Given the description of an element on the screen output the (x, y) to click on. 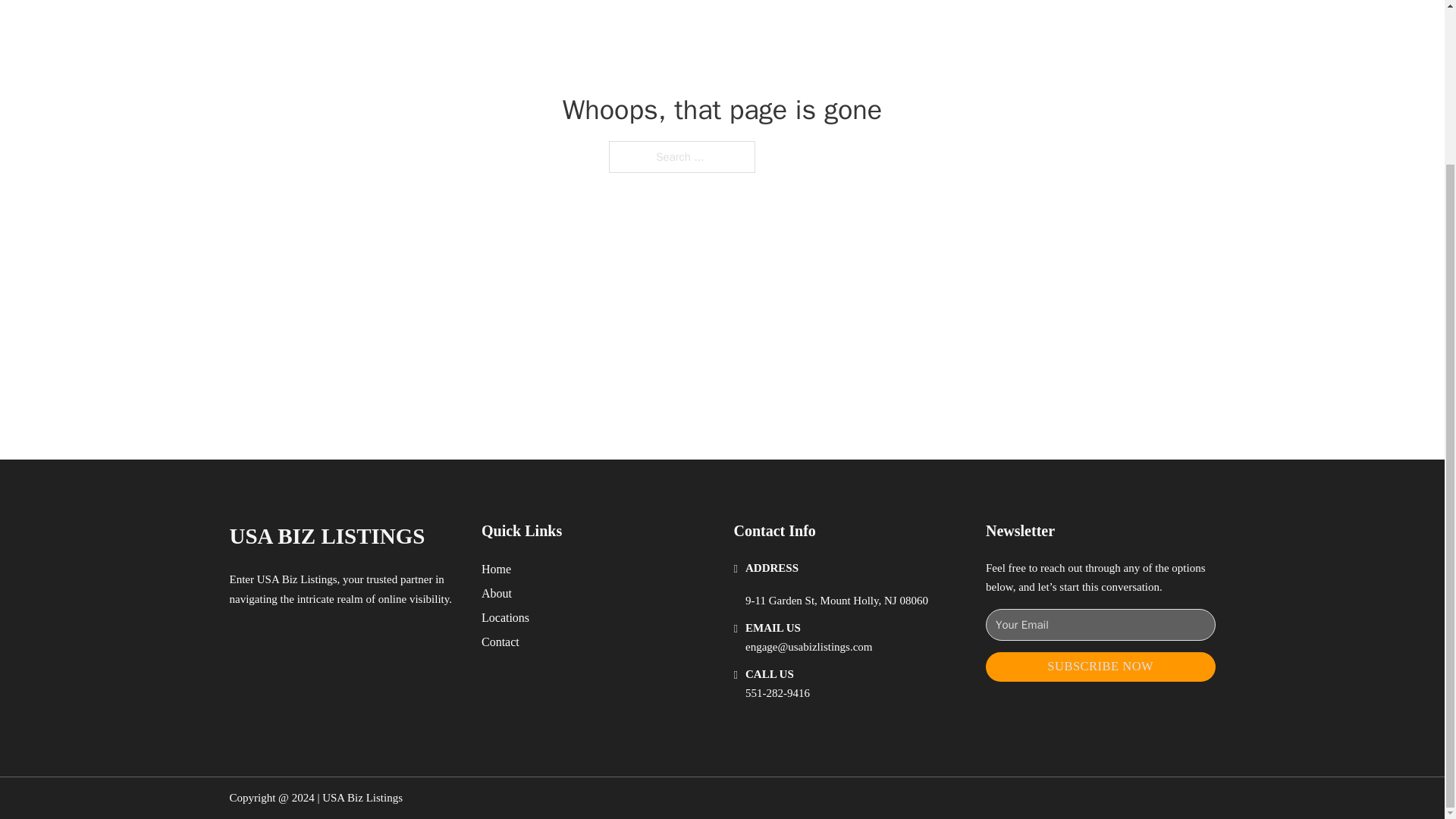
Locations (505, 617)
About (496, 593)
SUBSCRIBE NOW (1100, 666)
USA BIZ LISTINGS (326, 536)
Contact (500, 641)
Home (496, 568)
551-282-9416 (777, 693)
